Given the description of an element on the screen output the (x, y) to click on. 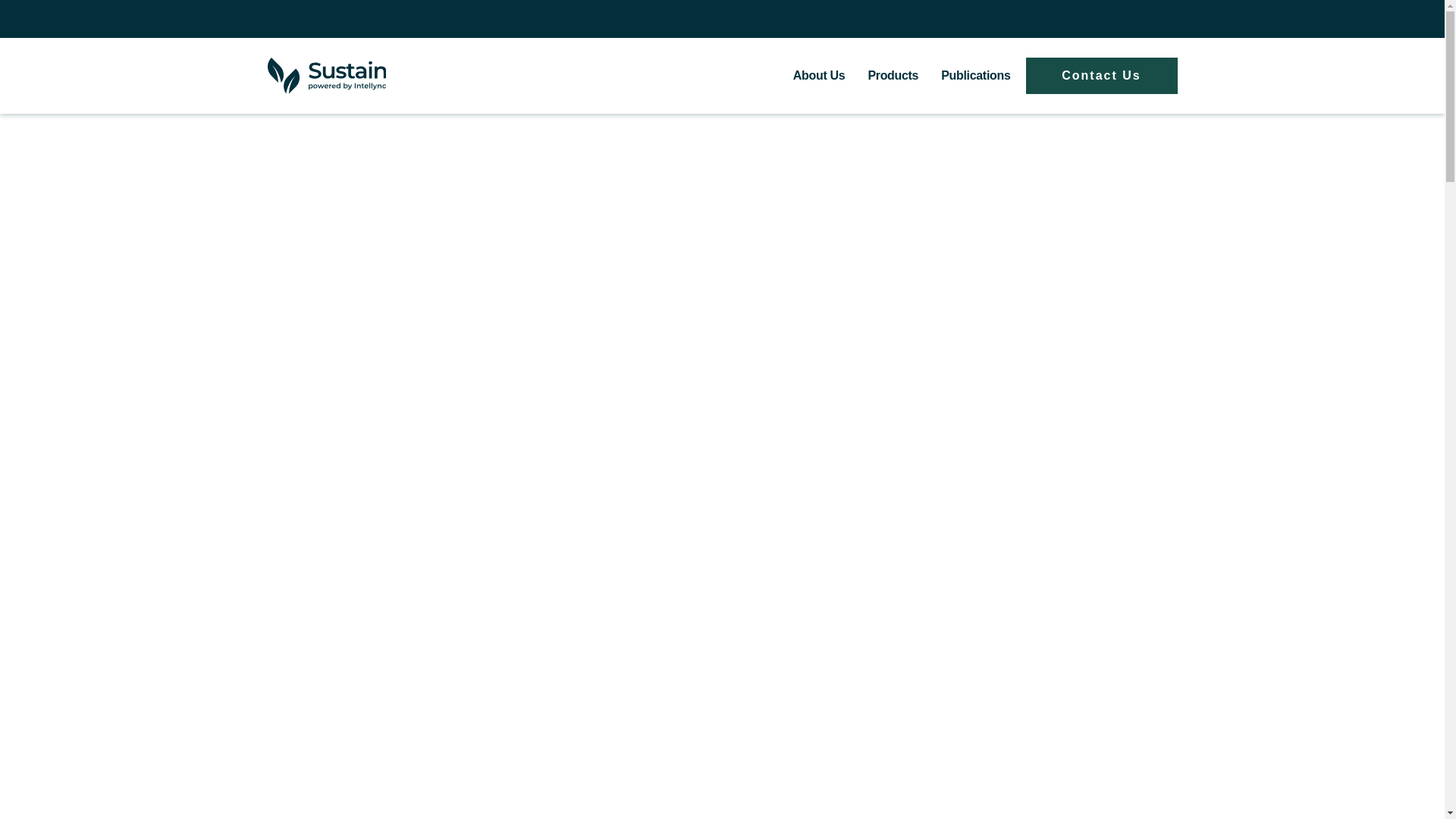
Contact Us (1100, 75)
Products (893, 75)
Publications (975, 75)
About Us (819, 75)
